Given the description of an element on the screen output the (x, y) to click on. 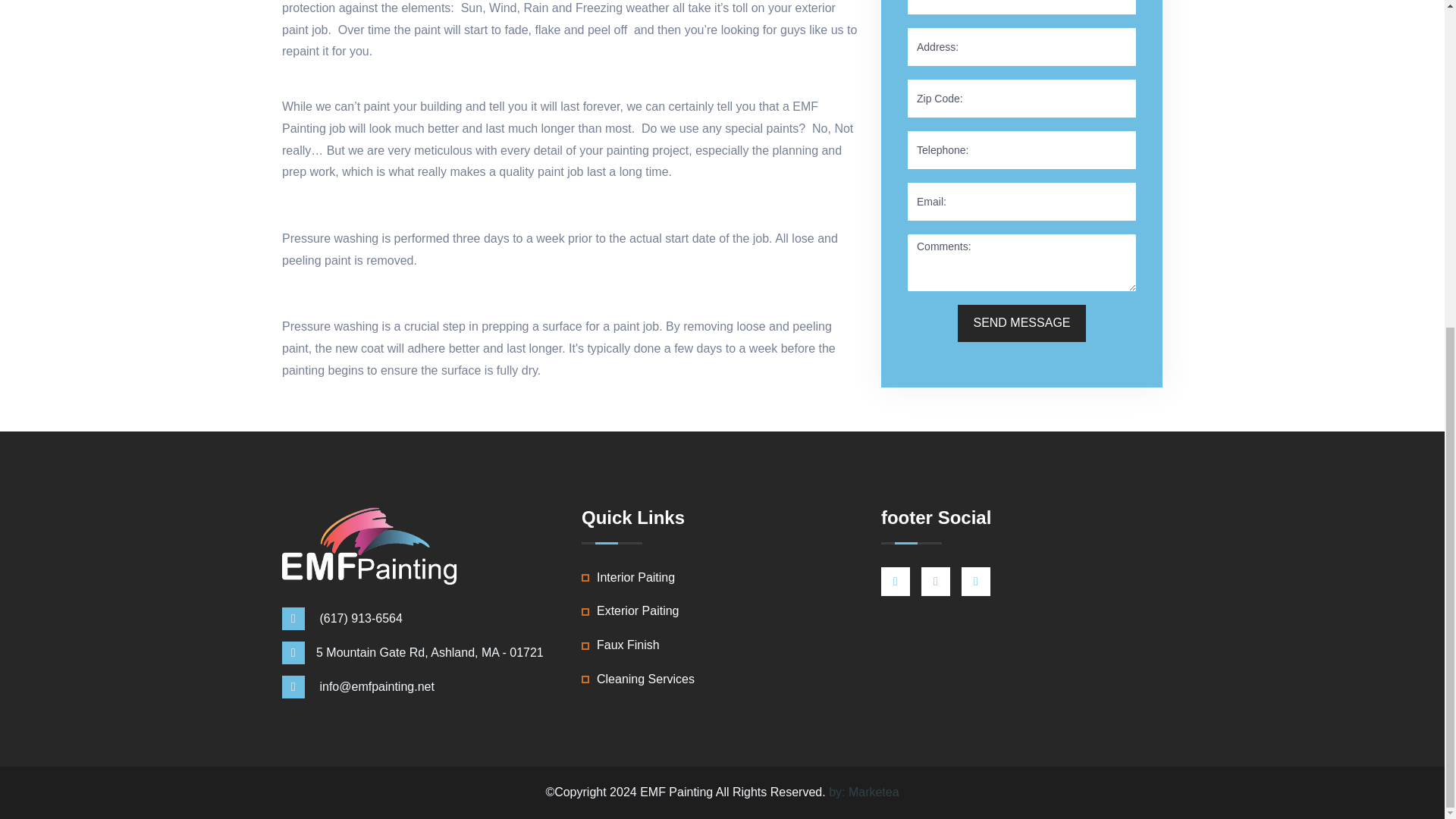
SEND MESSAGE (1021, 323)
Interior Paiting (635, 577)
by: Marketea (863, 792)
Faux Finish (627, 645)
Exterior Paiting (637, 611)
Cleaning Services (645, 680)
